Given the description of an element on the screen output the (x, y) to click on. 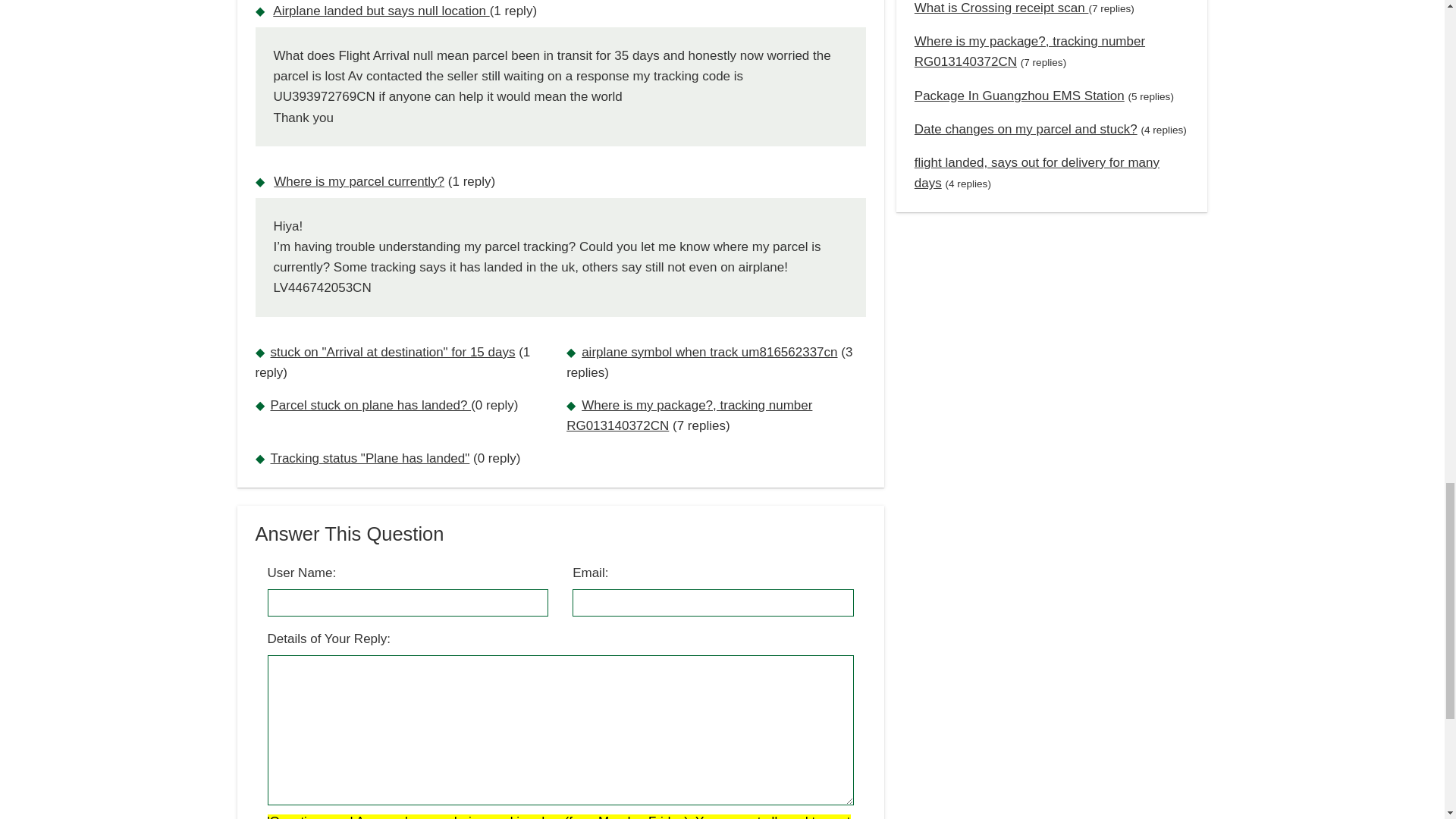
Airplane landed but says null location (381, 11)
Where is my parcel currently? (358, 181)
stuck on "Arrival at destination" for 15 days (392, 351)
Parcel stuck on plane has landed?  (369, 405)
airplane symbol when track um816562337cn (708, 351)
Tracking status "Plane has landed" (368, 458)
Where is my package?, tracking number RG013140372CN (689, 415)
airplane symbol when track um816562337cn (708, 351)
Parcel stuck on plane has landed? (369, 405)
Date changes on my parcel and stuck? (1025, 129)
